Given the description of an element on the screen output the (x, y) to click on. 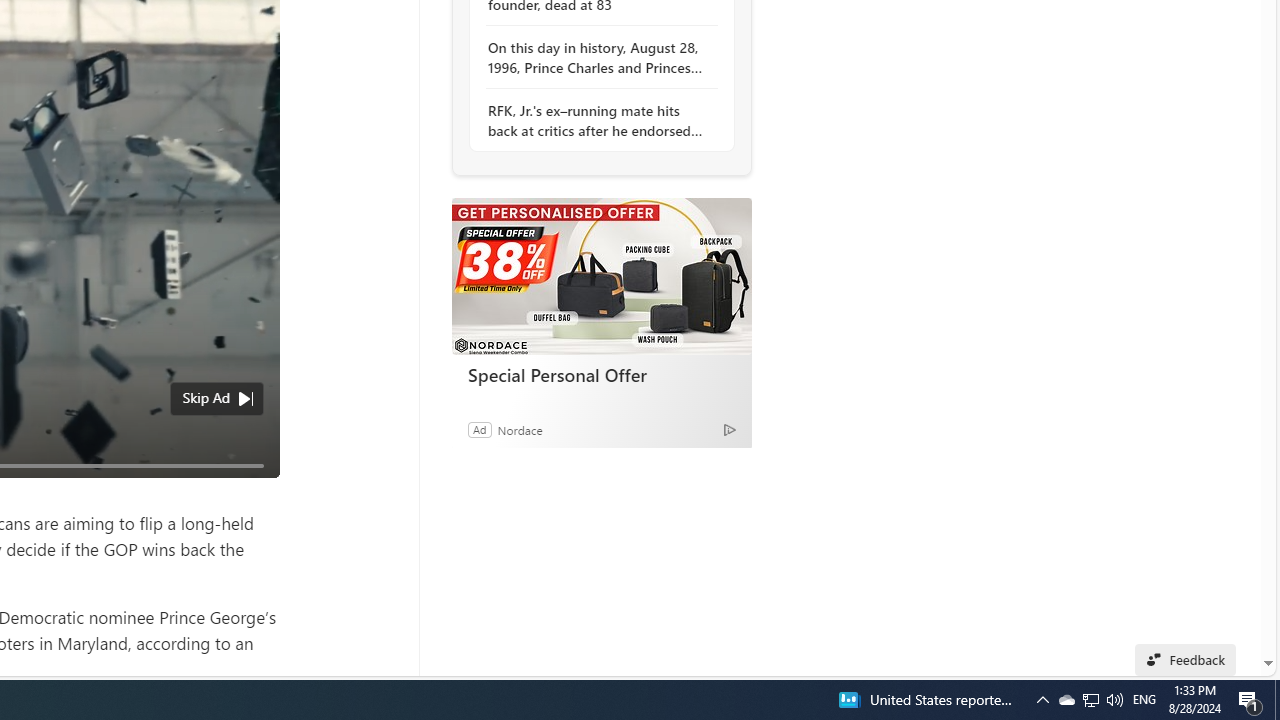
Skip Ad (205, 398)
Special Personal Offer (601, 374)
Unmute (253, 489)
Special Personal Offer (601, 276)
